Given the description of an element on the screen output the (x, y) to click on. 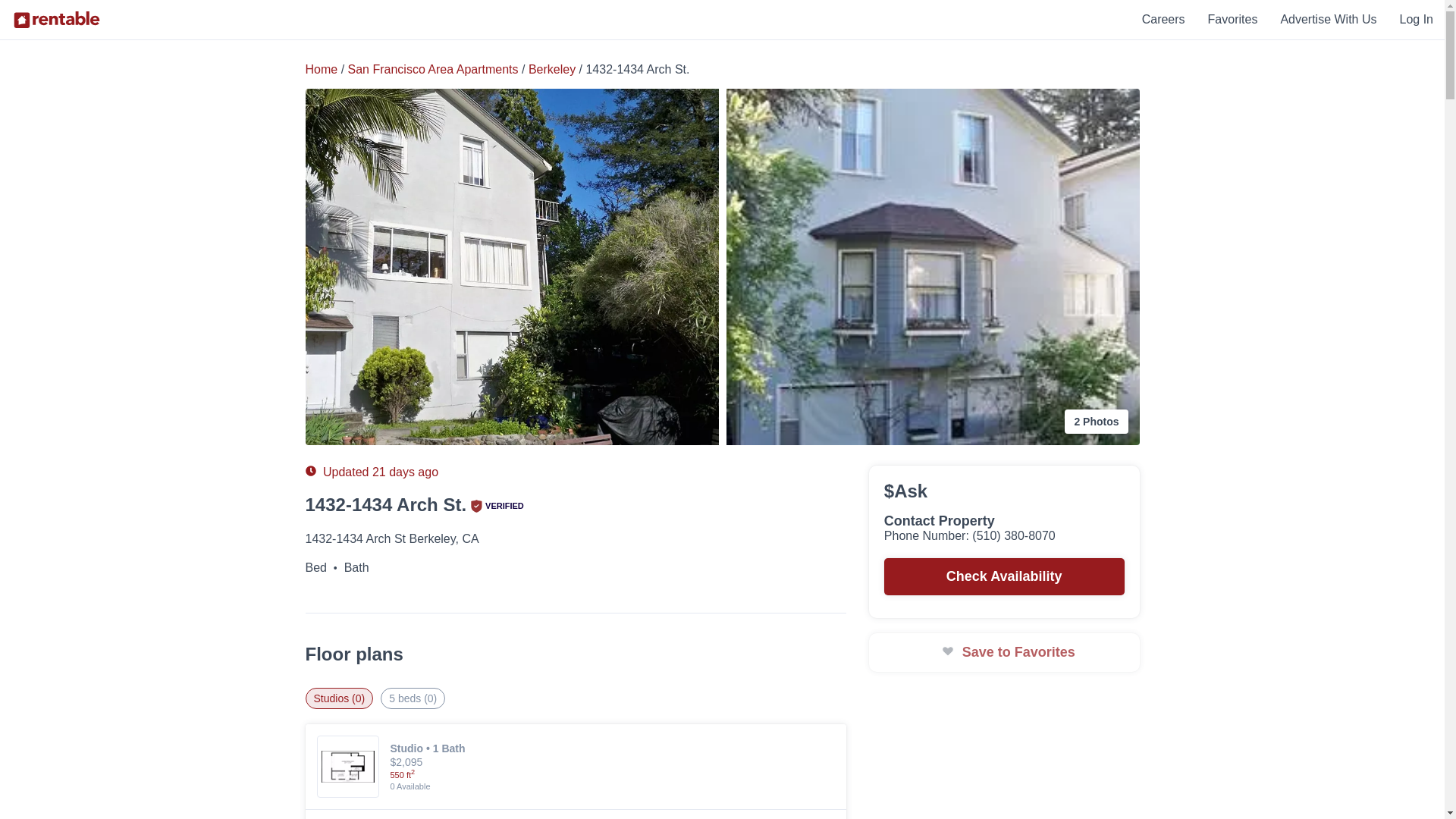
Photos (331, 409)
Save to Favorites (1004, 652)
Advertise With Us (1327, 19)
Berkeley (551, 69)
San Francisco Area Apartments (432, 69)
Amenities (471, 409)
Careers (1163, 19)
Home (320, 69)
Favorites (1232, 19)
Floor Plans (397, 409)
Log In (1415, 19)
